Given the description of an element on the screen output the (x, y) to click on. 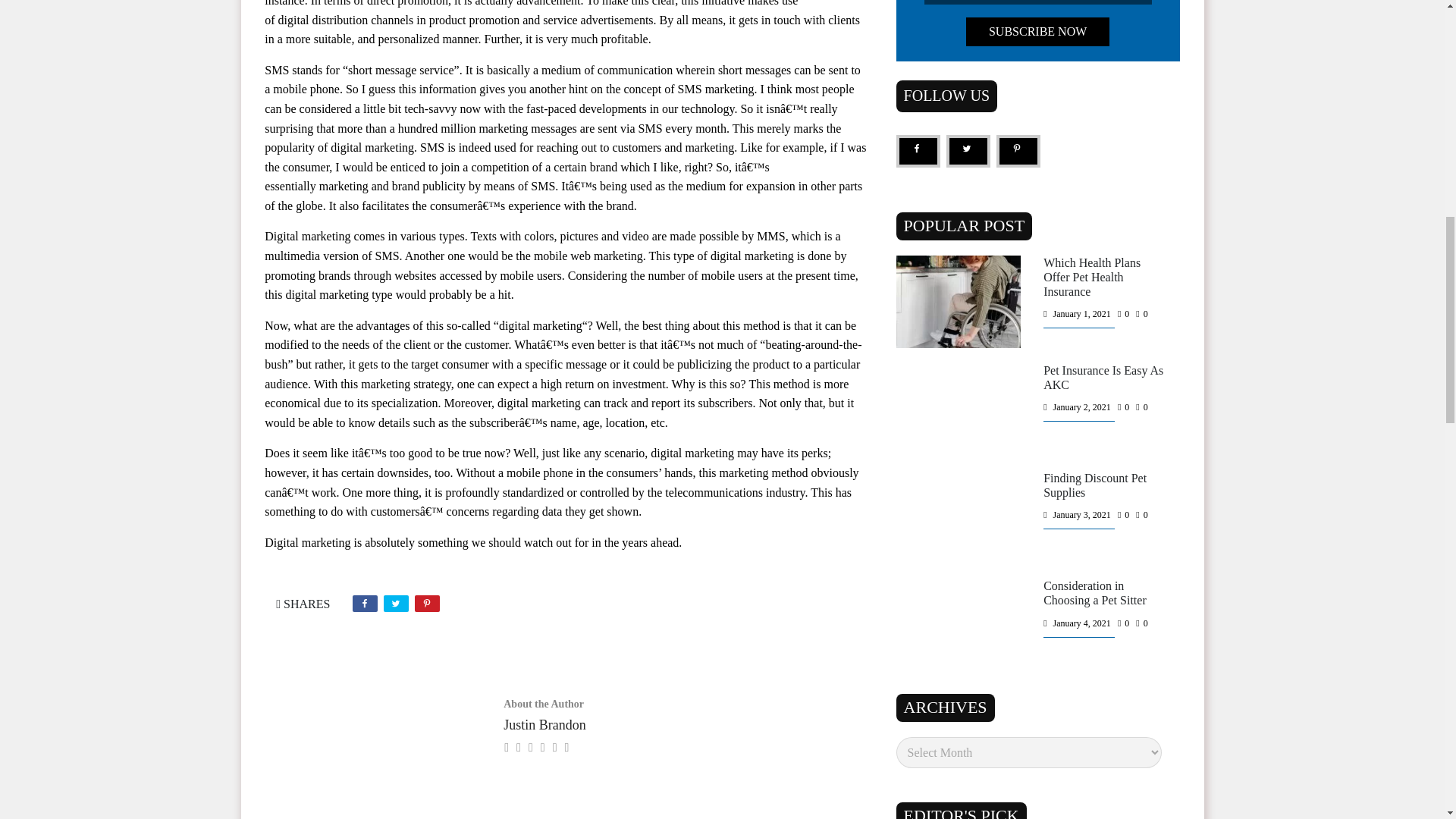
Share on Pinterest (1018, 151)
Share on Facebook (364, 603)
Share on Pinterest (426, 603)
Share on Facebook (918, 151)
Share on Twitter (396, 603)
Subscribe Now (1037, 31)
Share on Twitter (968, 151)
